Given the description of an element on the screen output the (x, y) to click on. 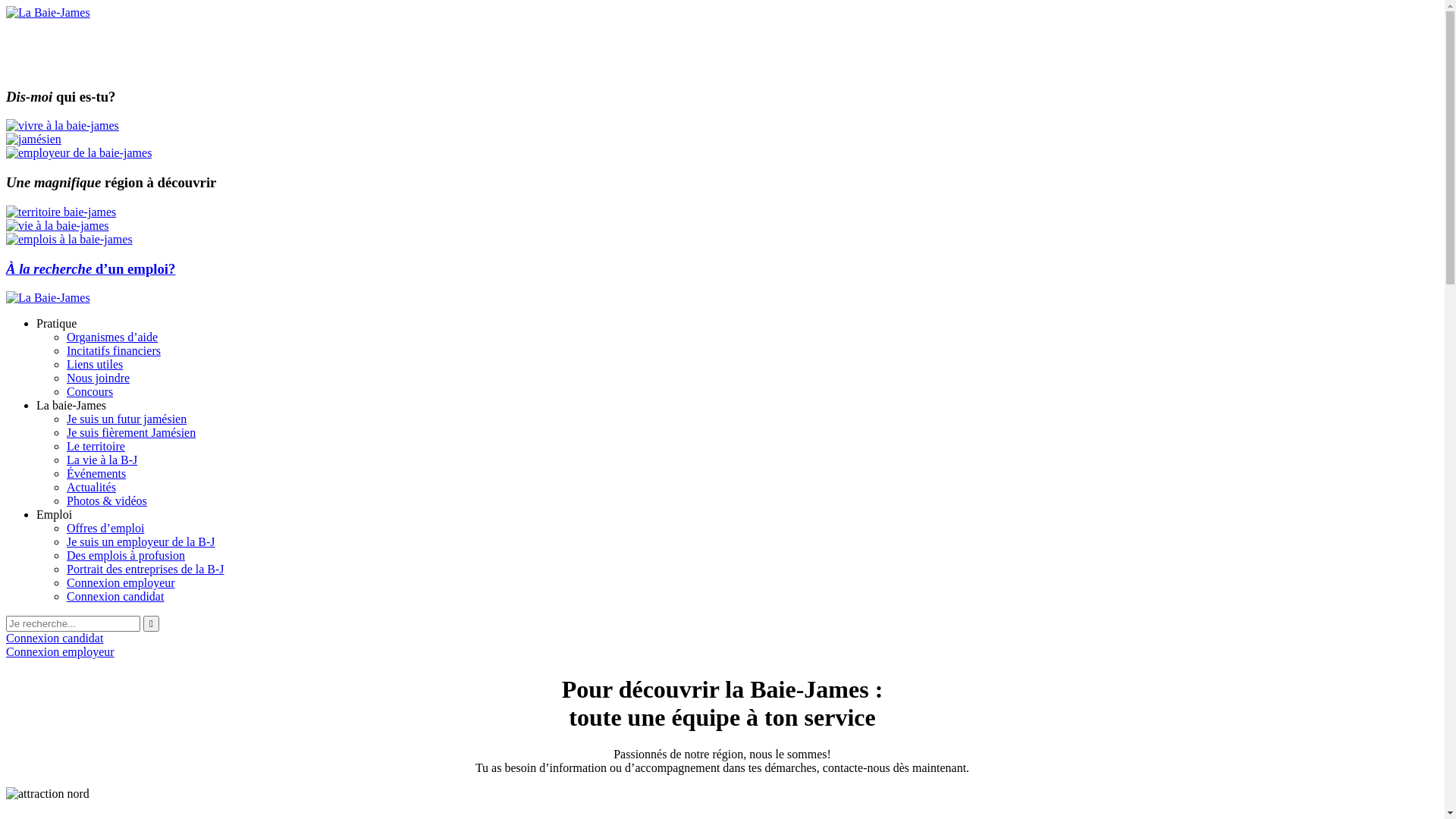
Je suis un employeur de la B-J Element type: text (140, 541)
Pratique Element type: text (56, 322)
Nous joindre Element type: text (97, 377)
Liens utiles Element type: text (94, 363)
Connexion employeur Element type: text (120, 582)
Connexion candidat Element type: text (114, 595)
Concours Element type: text (89, 391)
Portrait des entreprises de la B-J Element type: text (145, 568)
Incitatifs financiers Element type: text (113, 350)
Connexion employeur Element type: text (60, 651)
Connexion candidat Element type: text (54, 637)
La baie-James Element type: text (71, 404)
Le territoire Element type: text (95, 445)
Emploi Element type: text (54, 514)
